Given the description of an element on the screen output the (x, y) to click on. 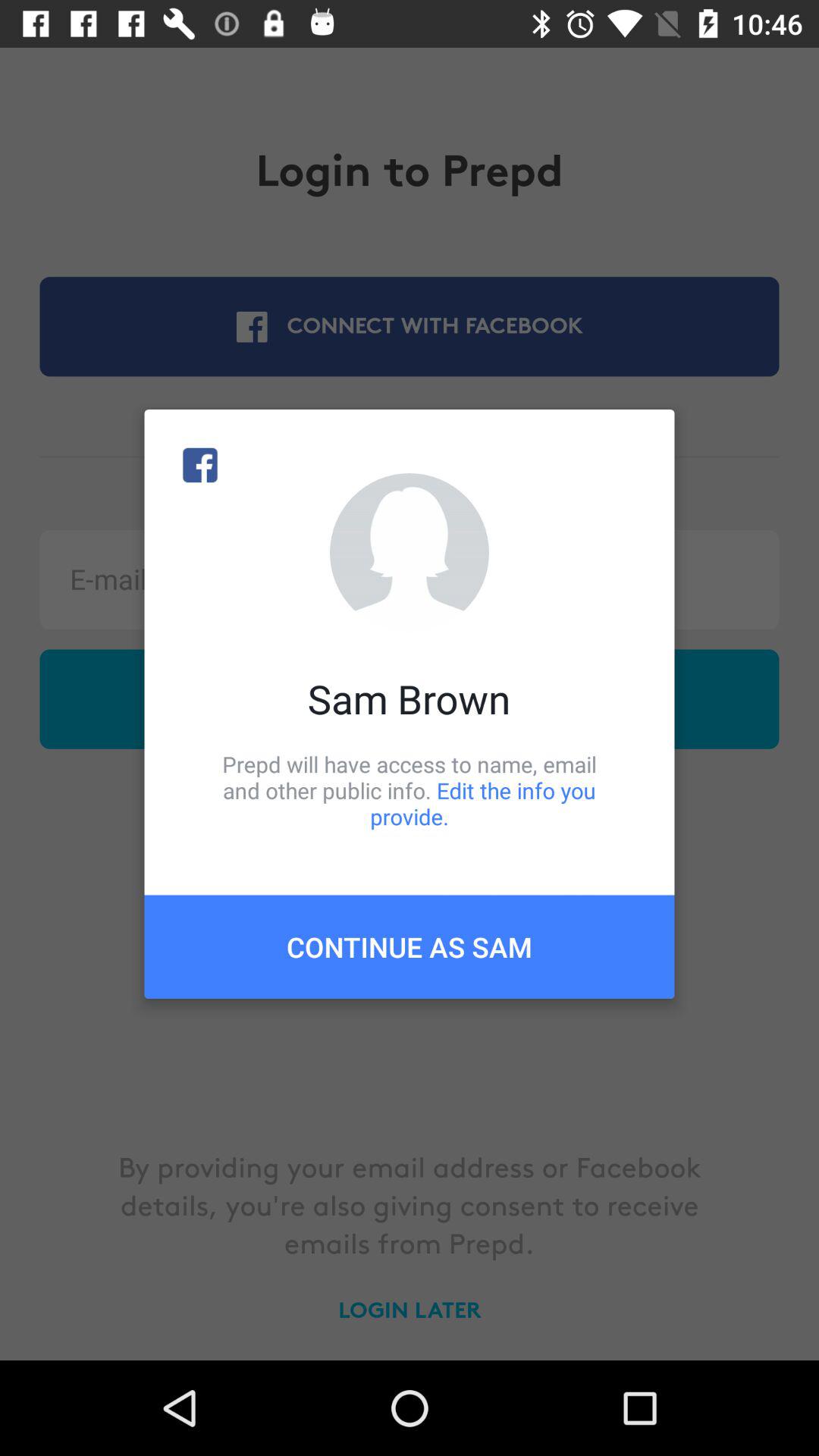
press item above continue as sam icon (409, 790)
